Given the description of an element on the screen output the (x, y) to click on. 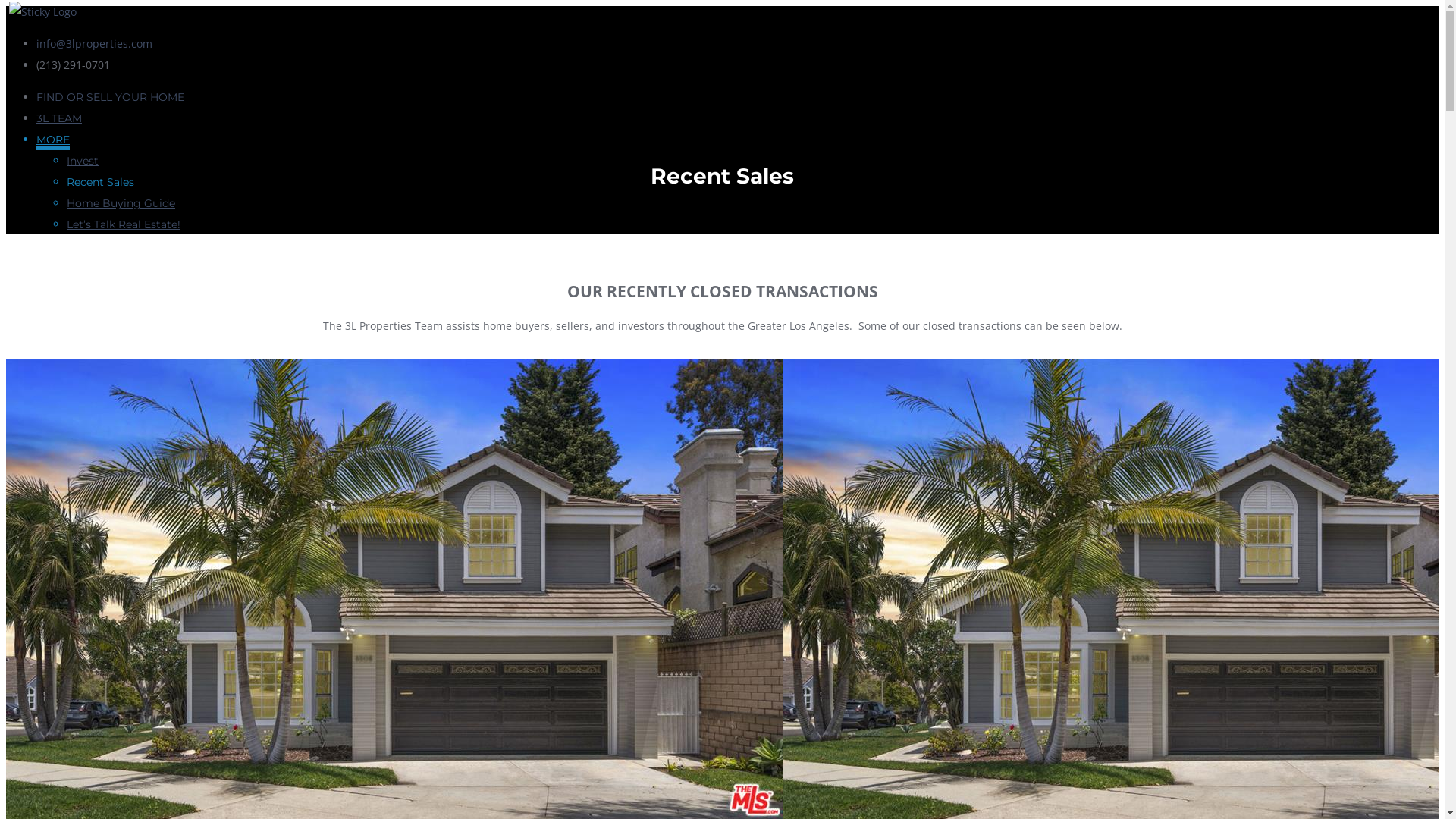
Recent Sales Element type: text (100, 181)
FIND OR SELL YOUR HOME Element type: text (110, 96)
Invest Element type: text (82, 160)
MORE Element type: text (52, 141)
Home Buying Guide Element type: text (120, 203)
3L TEAM Element type: text (58, 118)
info@3lproperties.com Element type: text (94, 43)
